Given the description of an element on the screen output the (x, y) to click on. 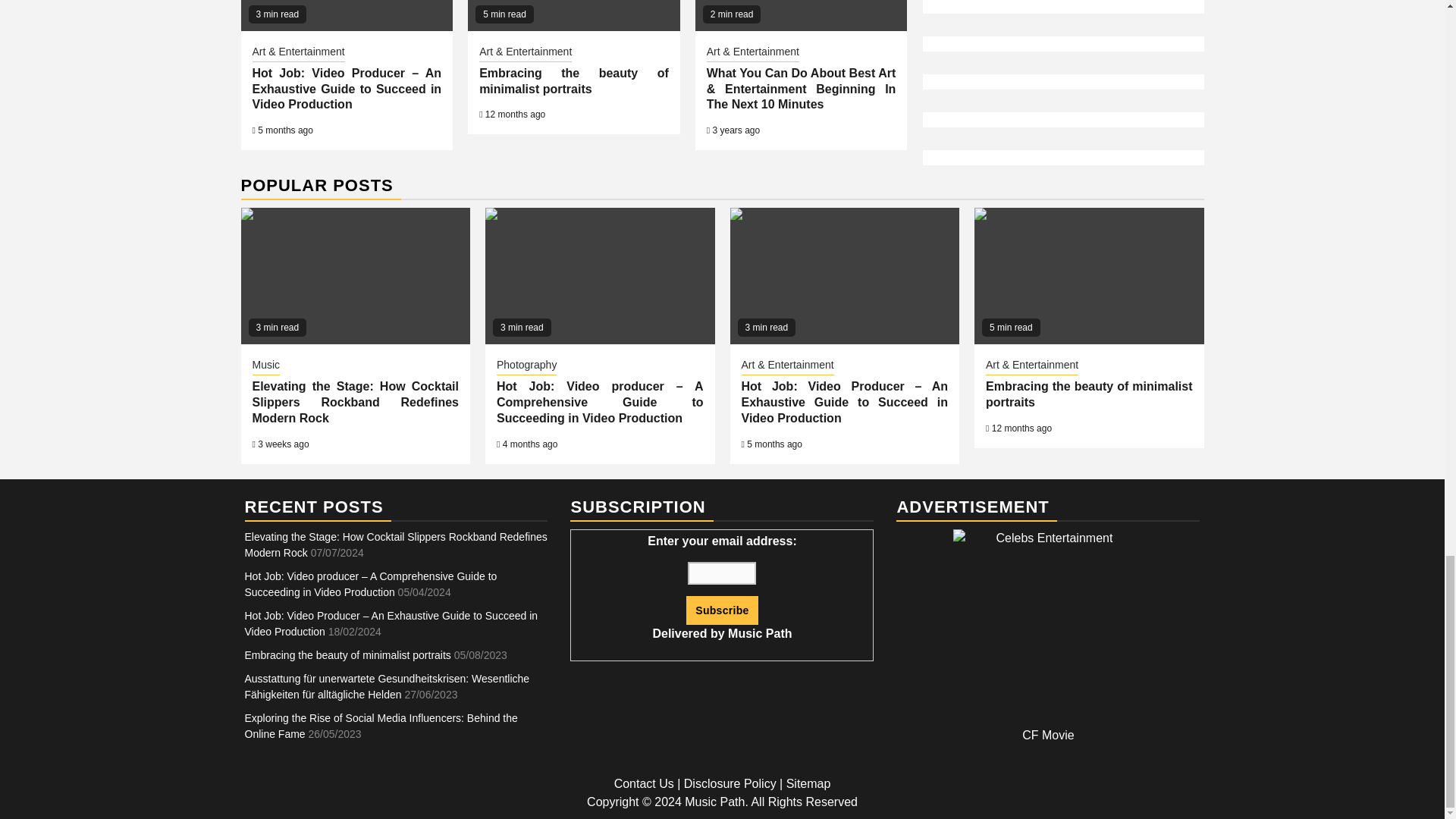
Subscribe (721, 610)
Embracing the beauty of minimalist portraits (573, 80)
Embracing the beauty of minimalist portraits 5 (573, 15)
